Given the description of an element on the screen output the (x, y) to click on. 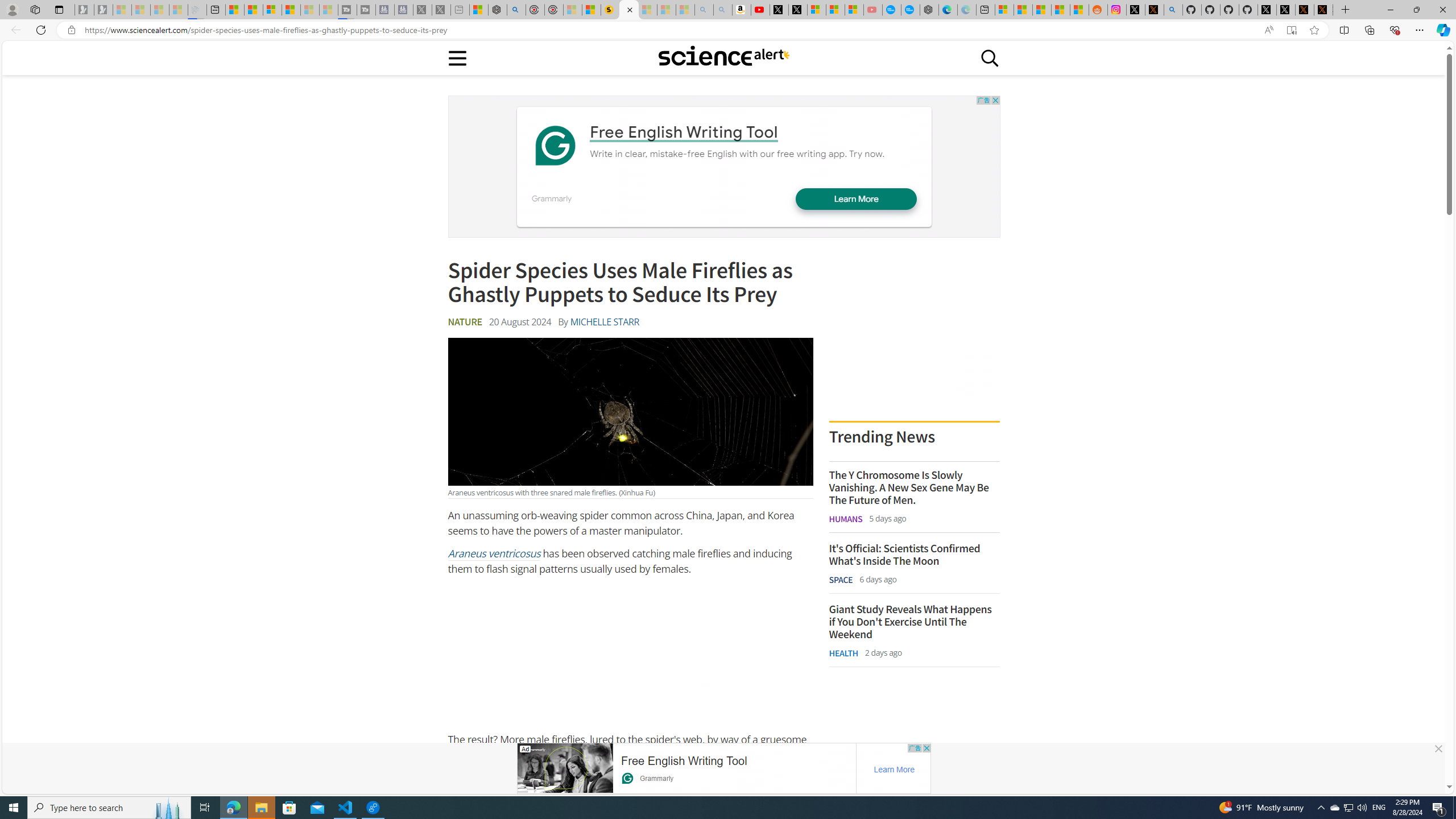
SPACE (840, 579)
Gloom - YouTube - Sleeping (872, 9)
ScienceAlert homepage (723, 57)
github - Search (1173, 9)
HEALTH (842, 653)
The most popular Google 'how to' searches (910, 9)
Day 1: Arriving in Yemen (surreal to be here) - YouTube (759, 9)
It's Official: Scientists Confirmed What's Inside The Moon (914, 554)
